Given the description of an element on the screen output the (x, y) to click on. 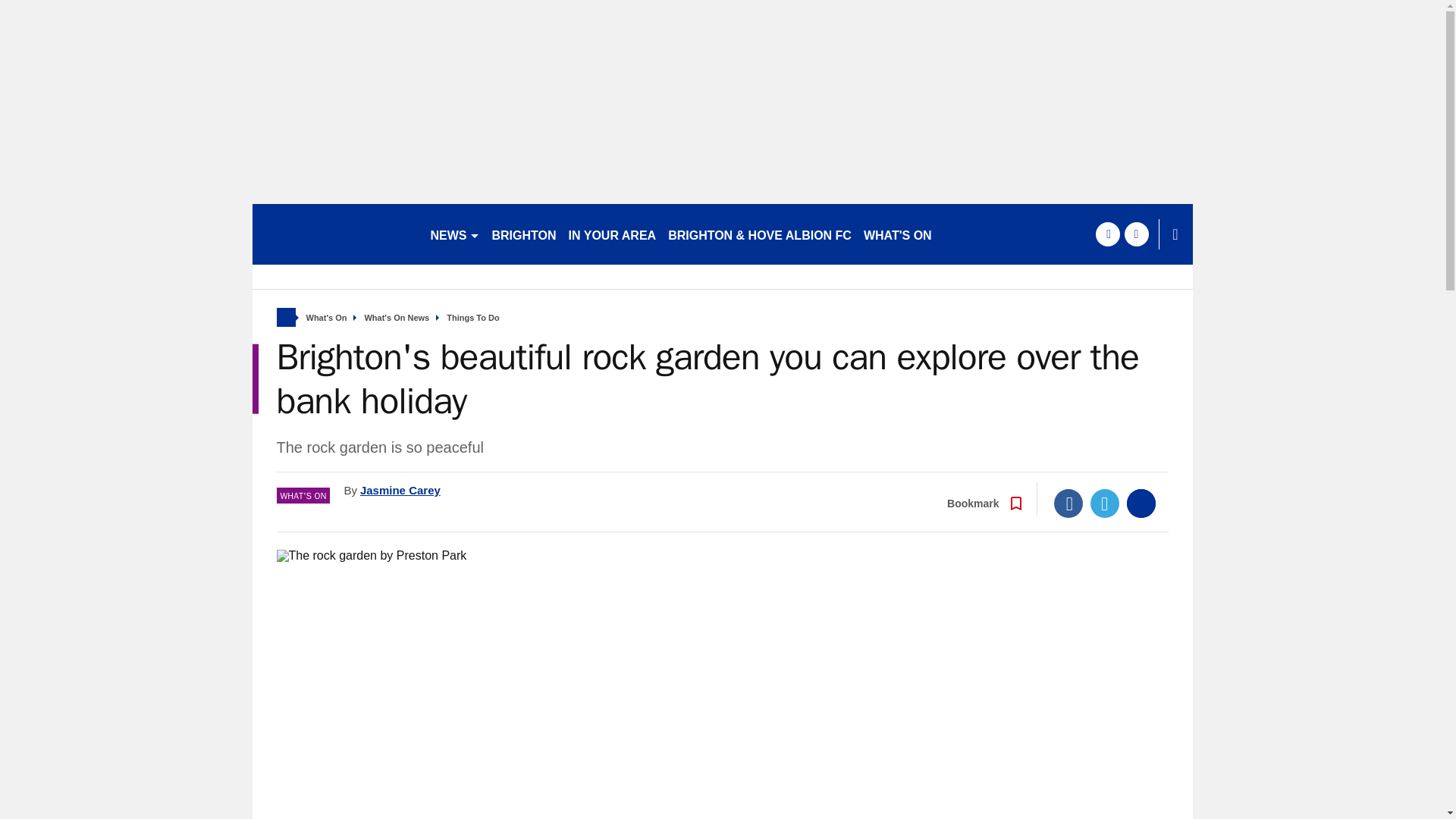
IN YOUR AREA (612, 233)
twitter (1136, 233)
NEWS (455, 233)
facebook (1106, 233)
WHAT'S ON (897, 233)
sussexlive (333, 233)
BRIGHTON (523, 233)
Twitter (1104, 502)
Facebook (1068, 502)
